Given the description of an element on the screen output the (x, y) to click on. 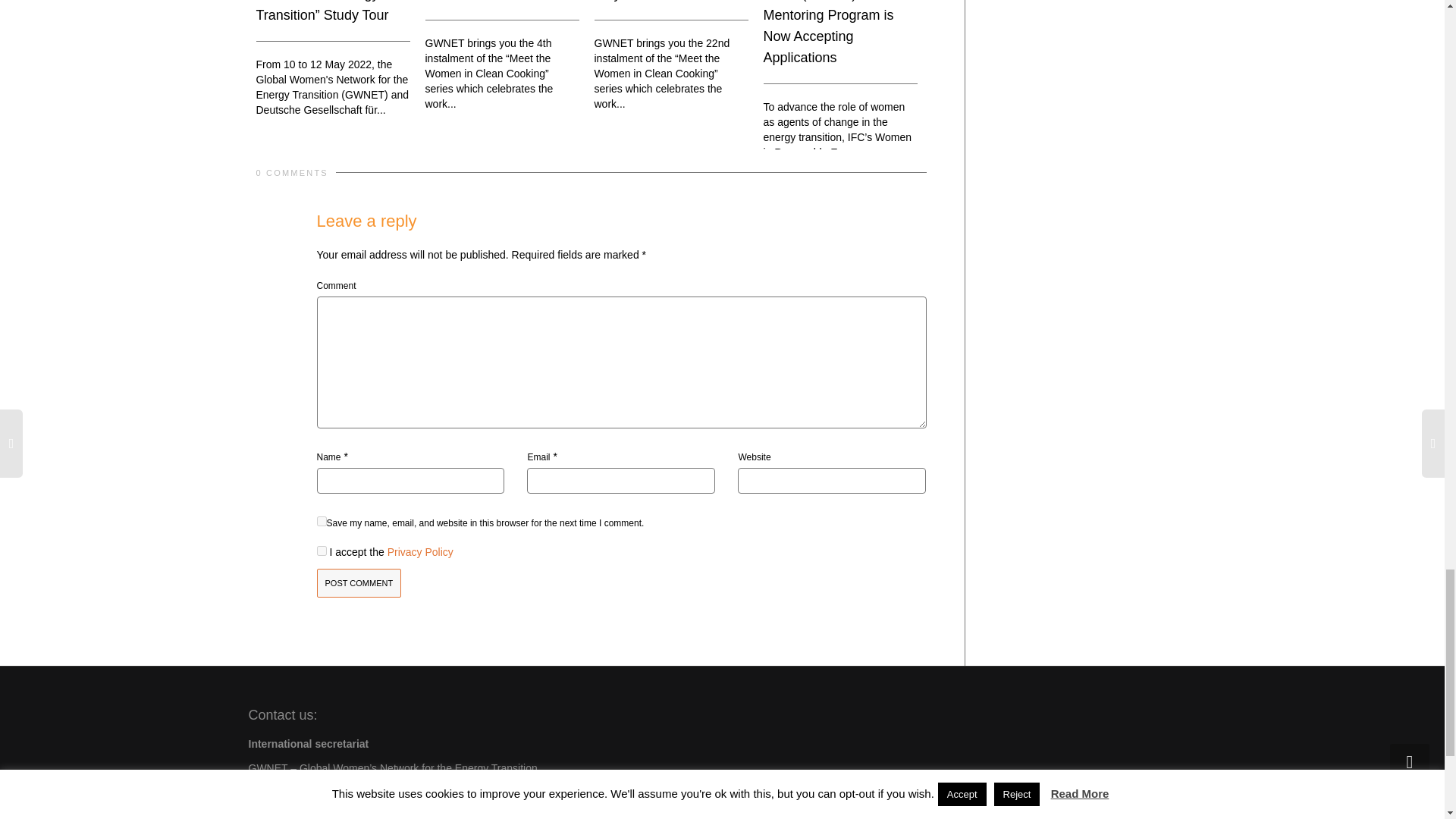
Post comment (359, 583)
1 (321, 551)
yes (321, 521)
Meet the Women in Clean Cooking: Brenda Mutalaza (495, 0)
